Given the description of an element on the screen output the (x, y) to click on. 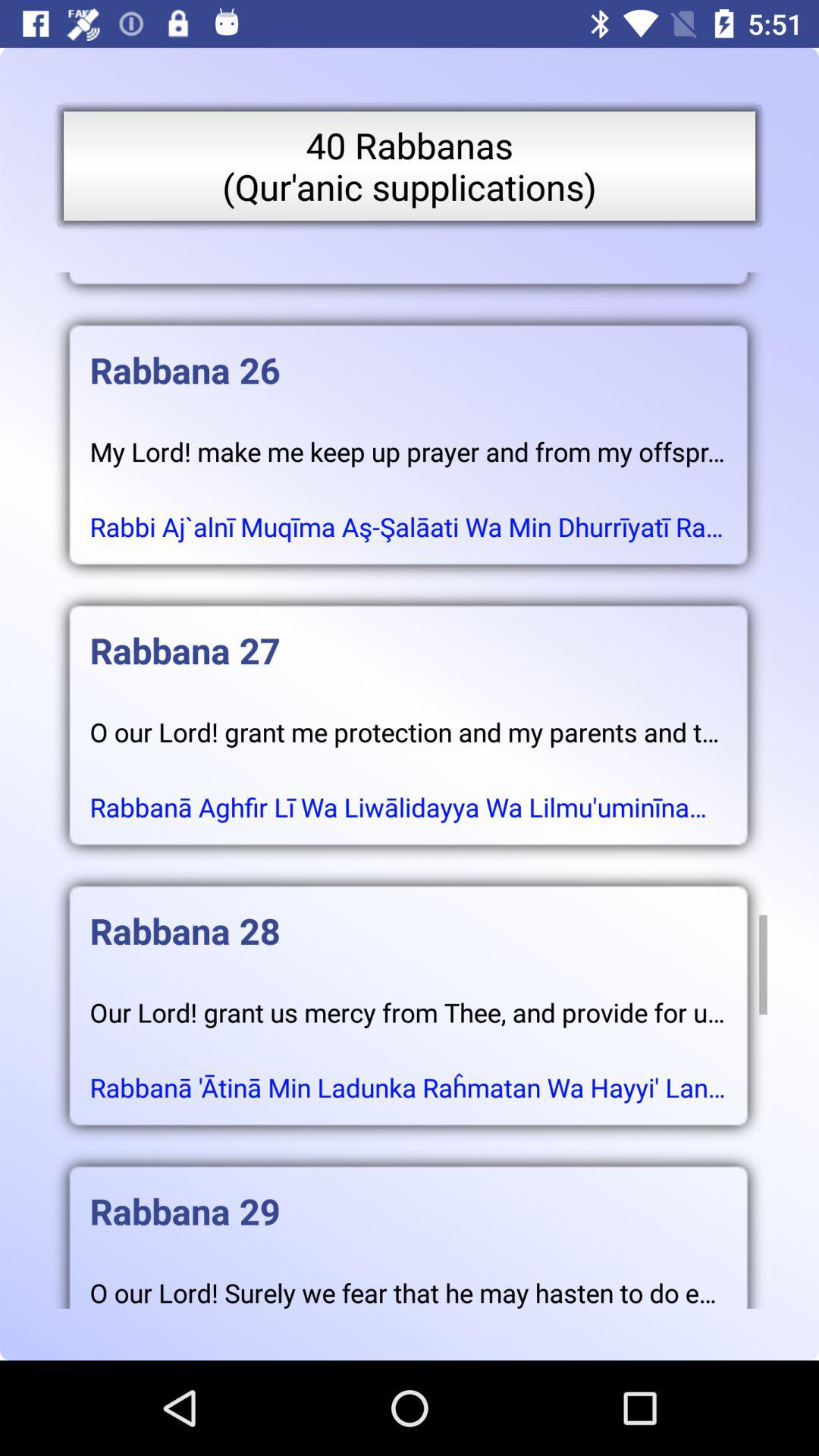
launch rabbana 28 (408, 915)
